Given the description of an element on the screen output the (x, y) to click on. 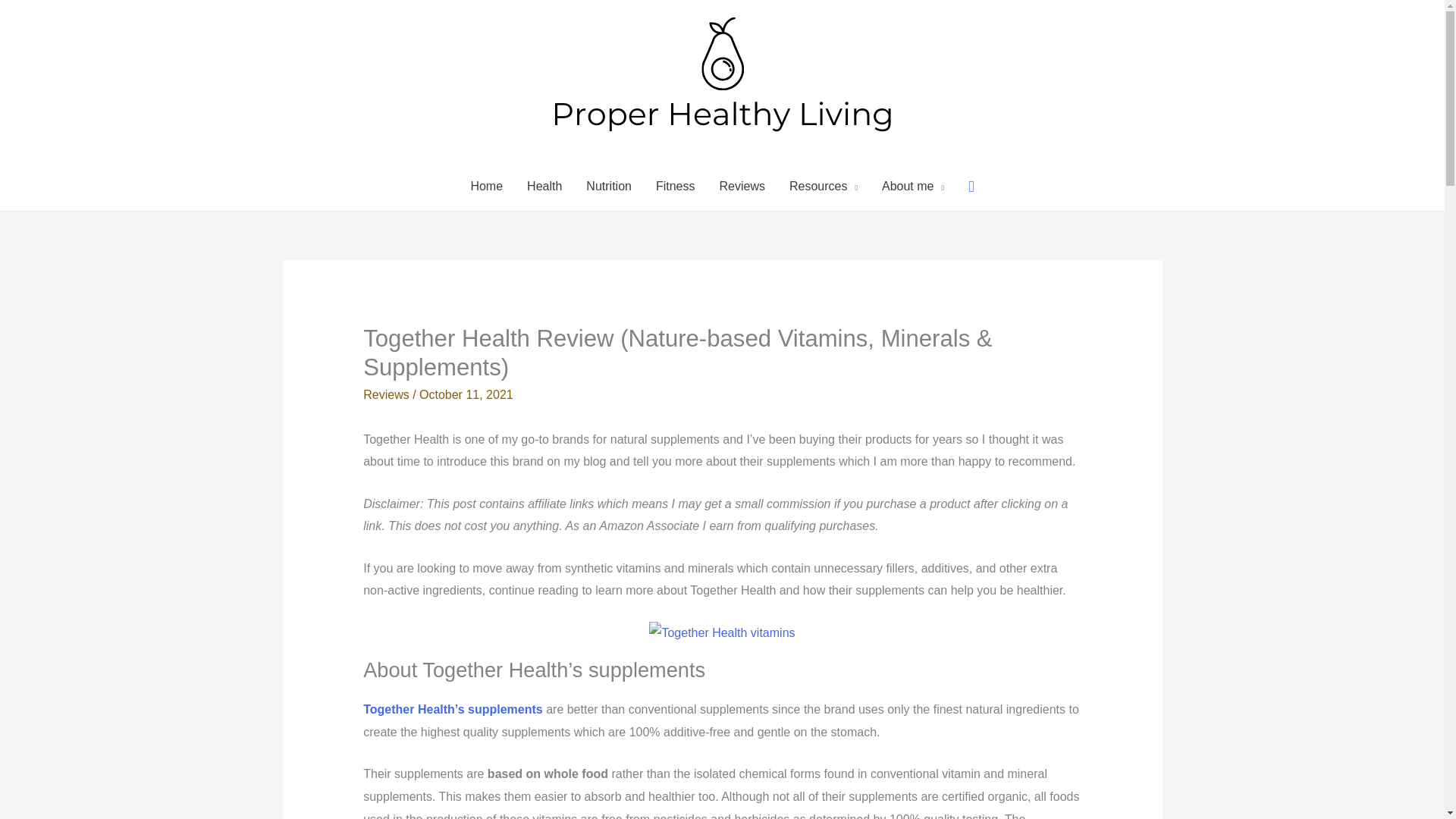
Fitness (675, 186)
Nutrition (608, 186)
About me (912, 186)
Resources (823, 186)
Home (486, 186)
Reviews (385, 394)
Reviews (741, 186)
Health (544, 186)
